Given the description of an element on the screen output the (x, y) to click on. 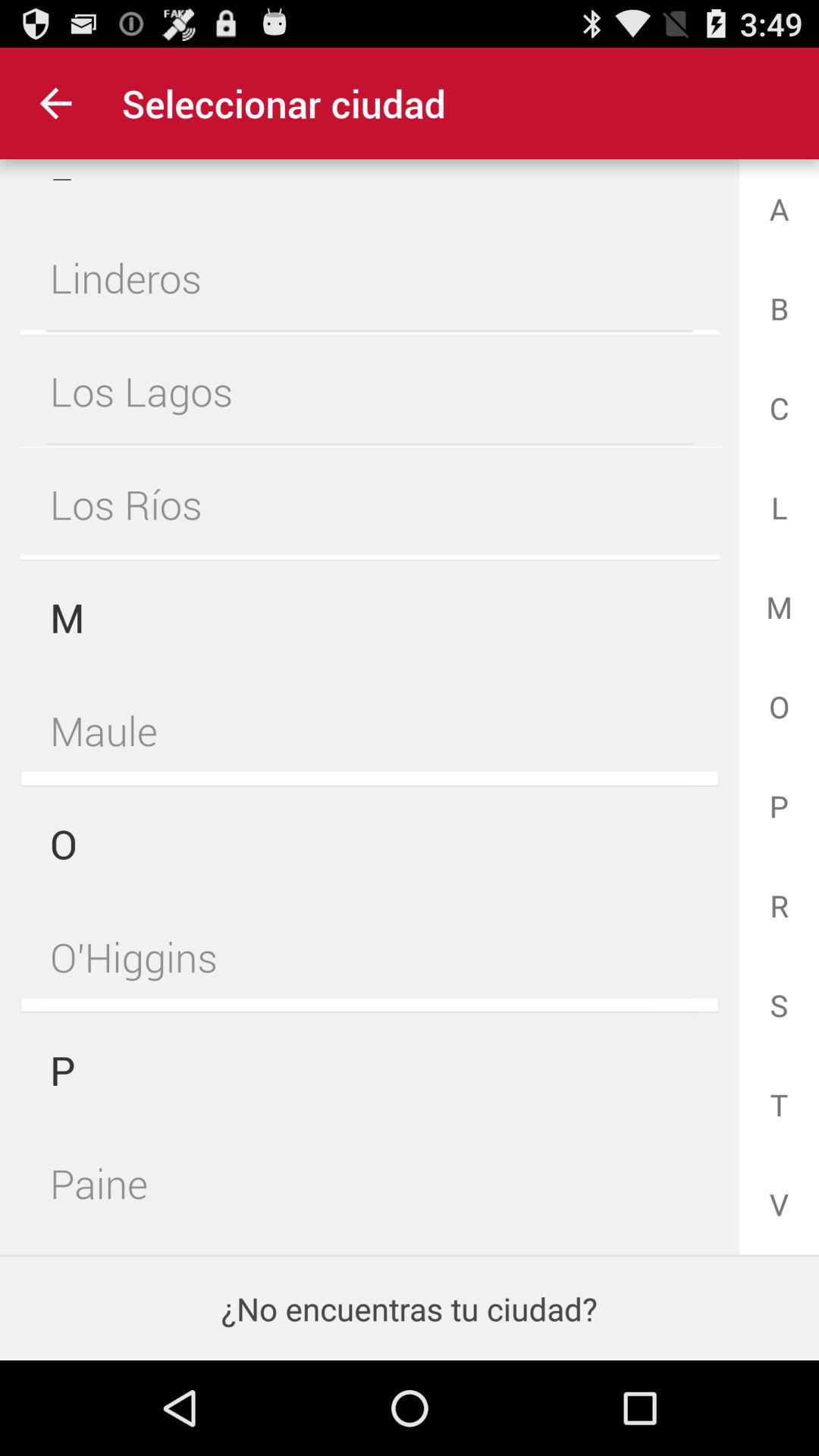
swipe until the los lagos (369, 390)
